Given the description of an element on the screen output the (x, y) to click on. 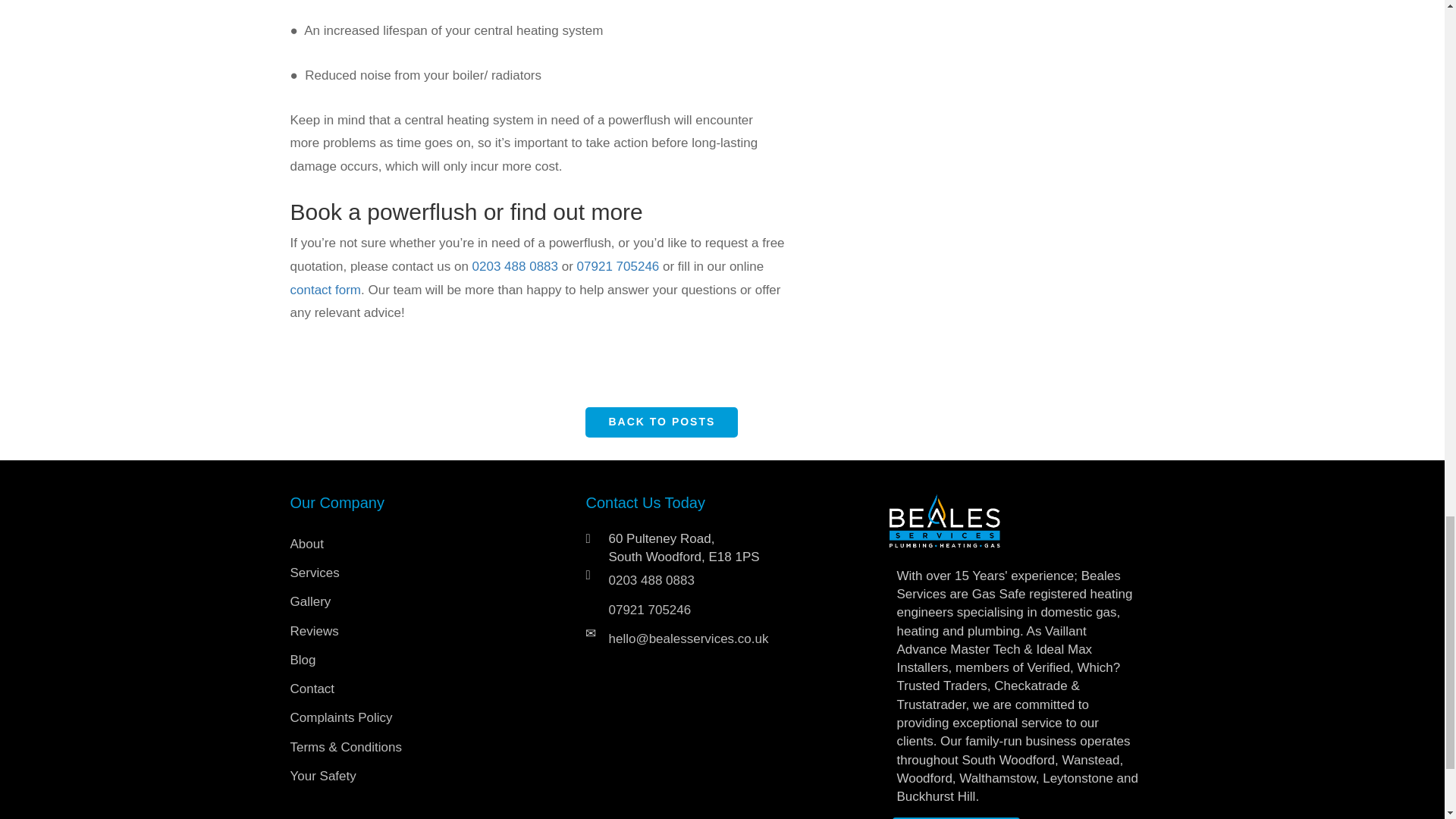
07921 705246 (617, 266)
0203 488 0883 (514, 266)
Back to Posts (661, 422)
contact form (325, 289)
